Given the description of an element on the screen output the (x, y) to click on. 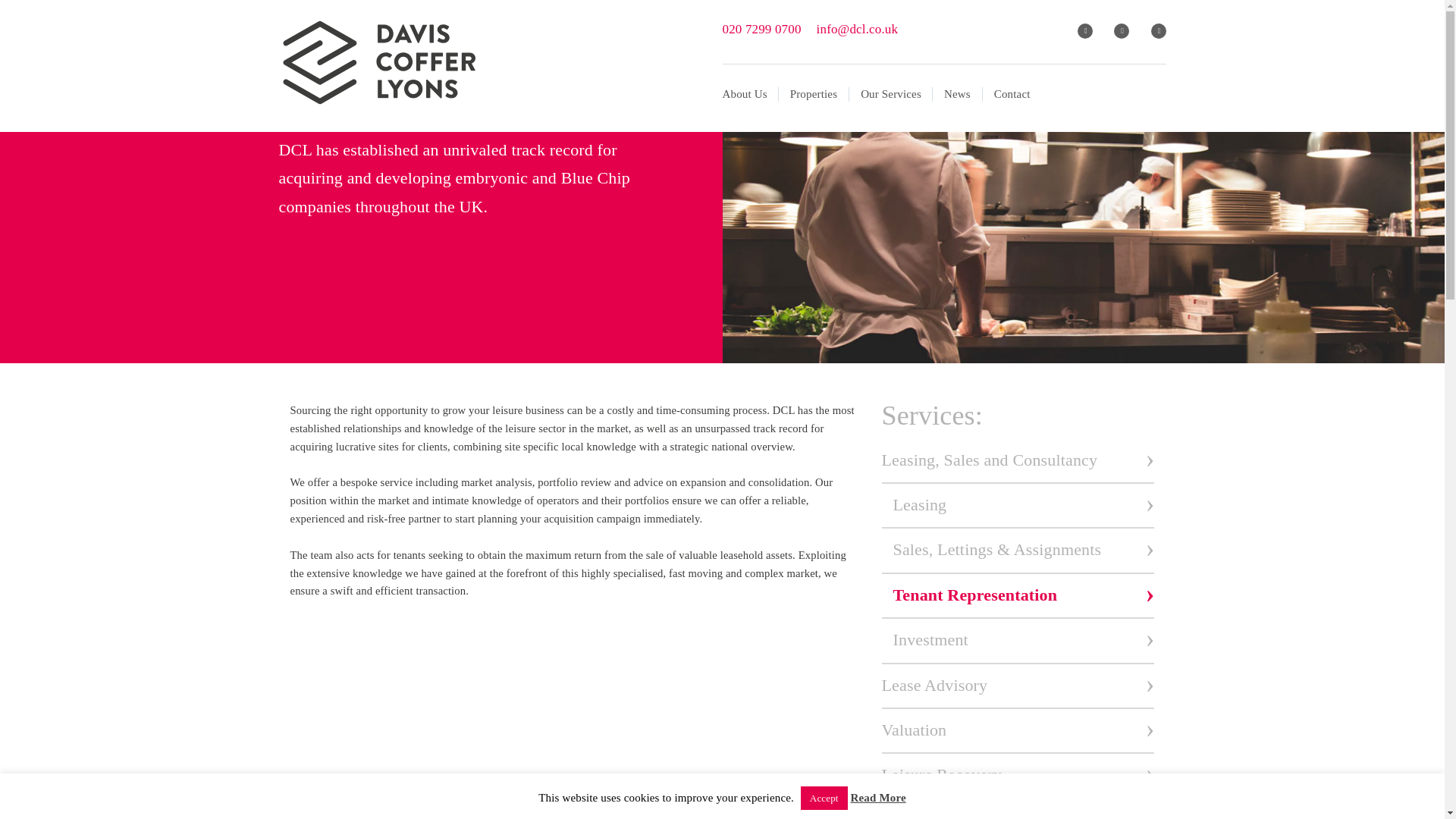
Expert Witness Service (1017, 814)
Valuation (1017, 733)
News (957, 93)
Investment (1023, 642)
Tenant Representation (1023, 597)
Leasing, Sales and Consultancy (1017, 462)
Properties (813, 93)
020 7299 0700 (761, 29)
Leasing (1023, 507)
Contact (1006, 93)
About Us (749, 93)
Leisure Recovery (1017, 777)
Our Services (890, 93)
Lease Advisory (1017, 688)
